Given the description of an element on the screen output the (x, y) to click on. 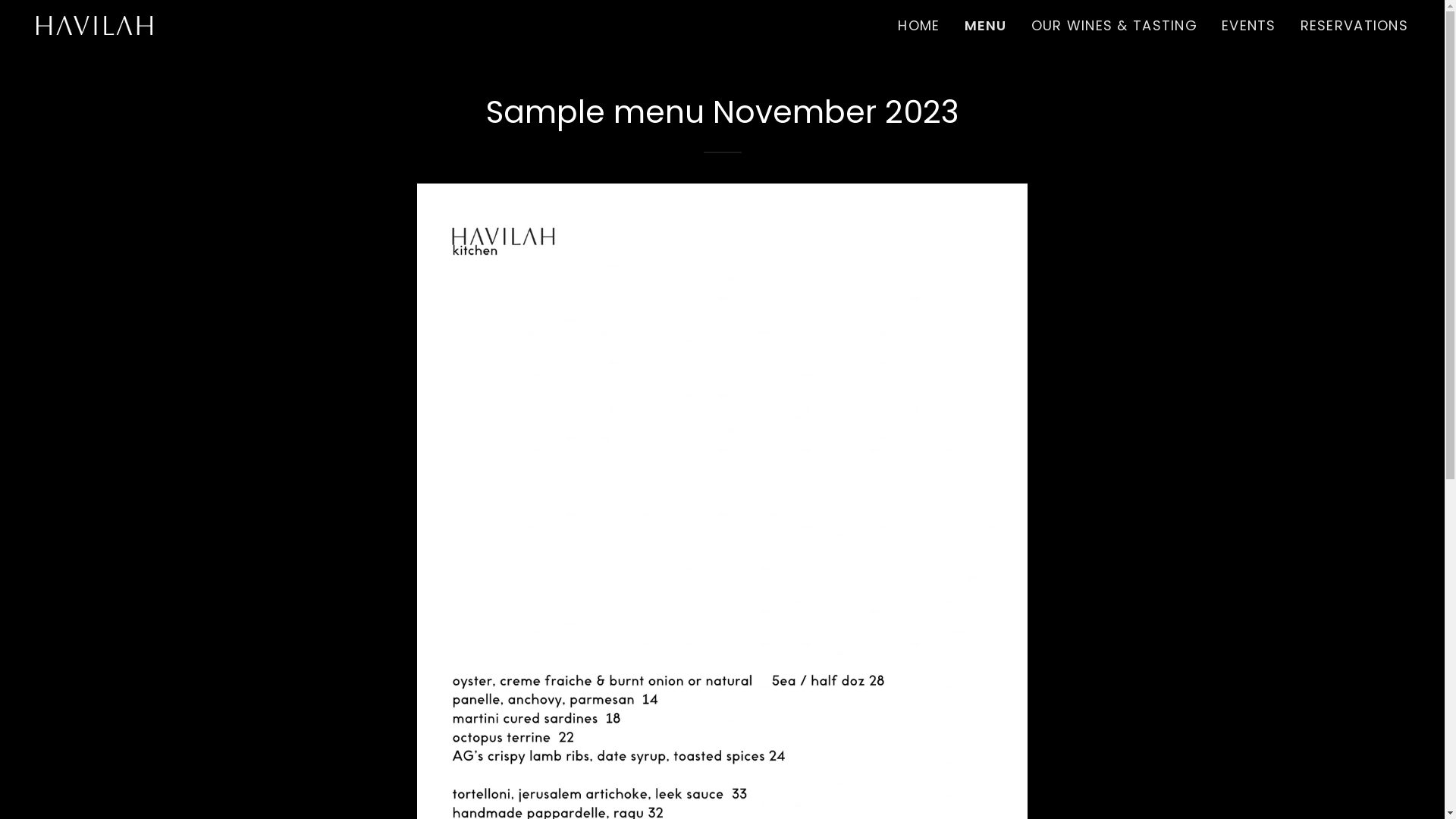
HAVILAH Element type: hover (94, 23)
RESERVATIONS Element type: text (1353, 25)
HOME Element type: text (918, 25)
EVENTS Element type: text (1248, 25)
OUR WINES & TASTING Element type: text (1113, 25)
MENU Element type: text (985, 25)
